Given the description of an element on the screen output the (x, y) to click on. 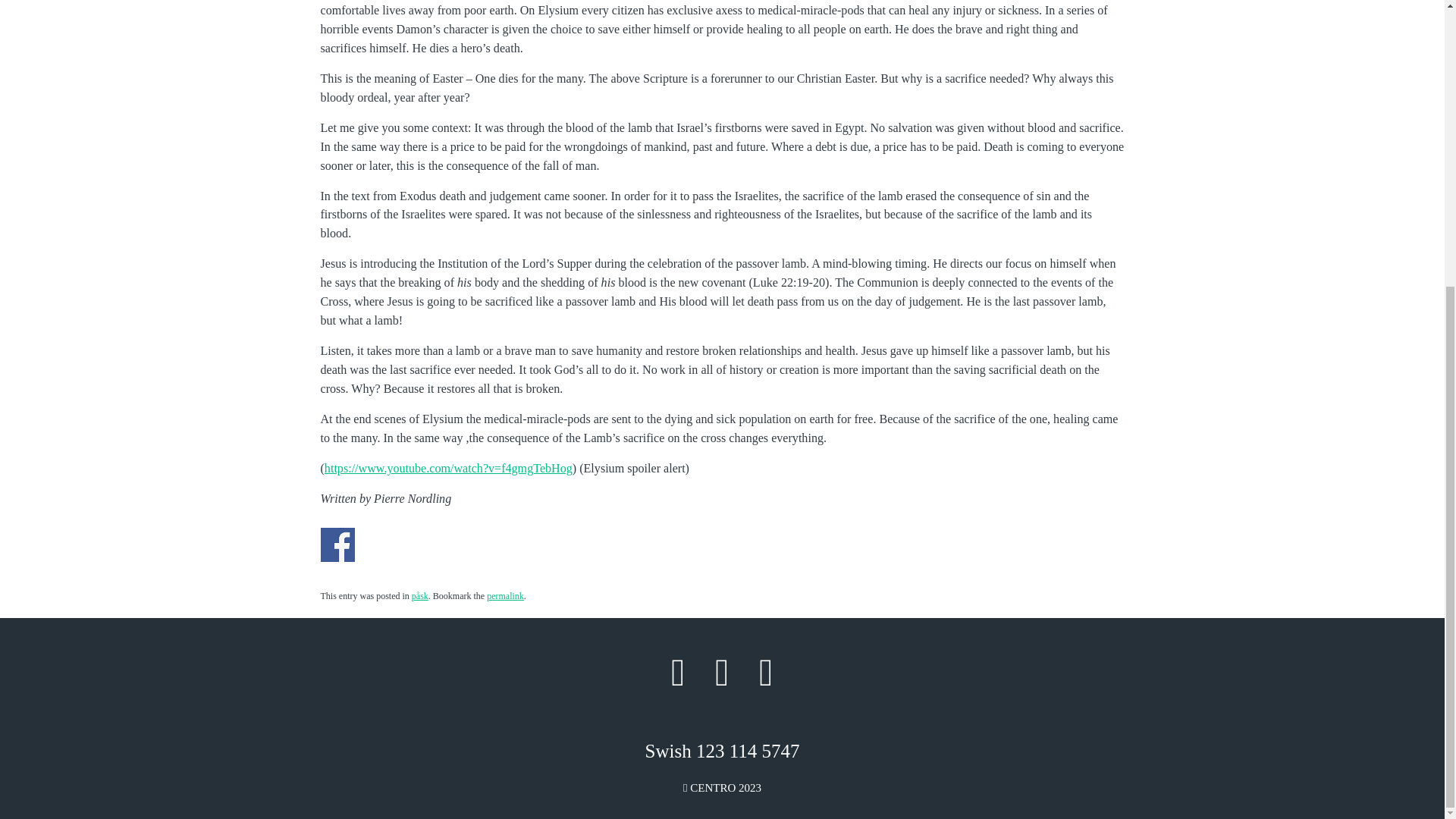
Facebook (678, 672)
Instagram (767, 672)
Pod - Spotify (722, 672)
Permalink to The Lamb (505, 595)
permalink (505, 595)
